Given the description of an element on the screen output the (x, y) to click on. 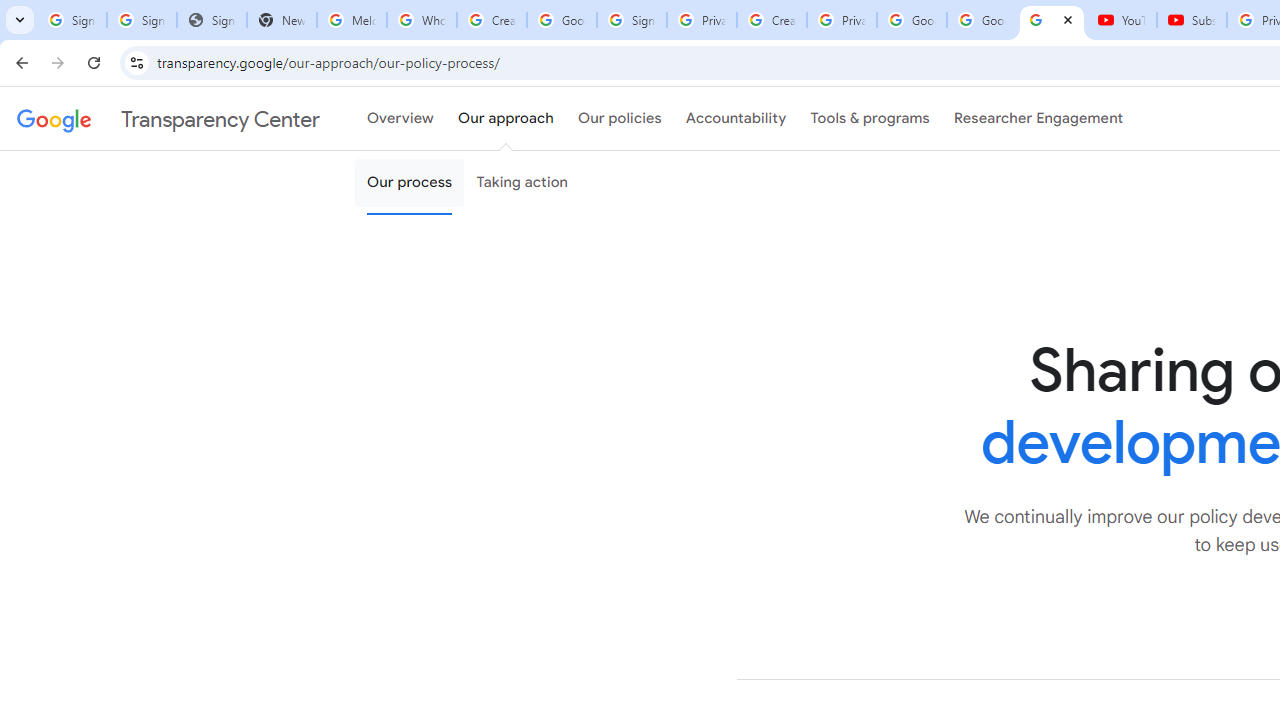
Sign In - USA TODAY (211, 20)
